Given the description of an element on the screen output the (x, y) to click on. 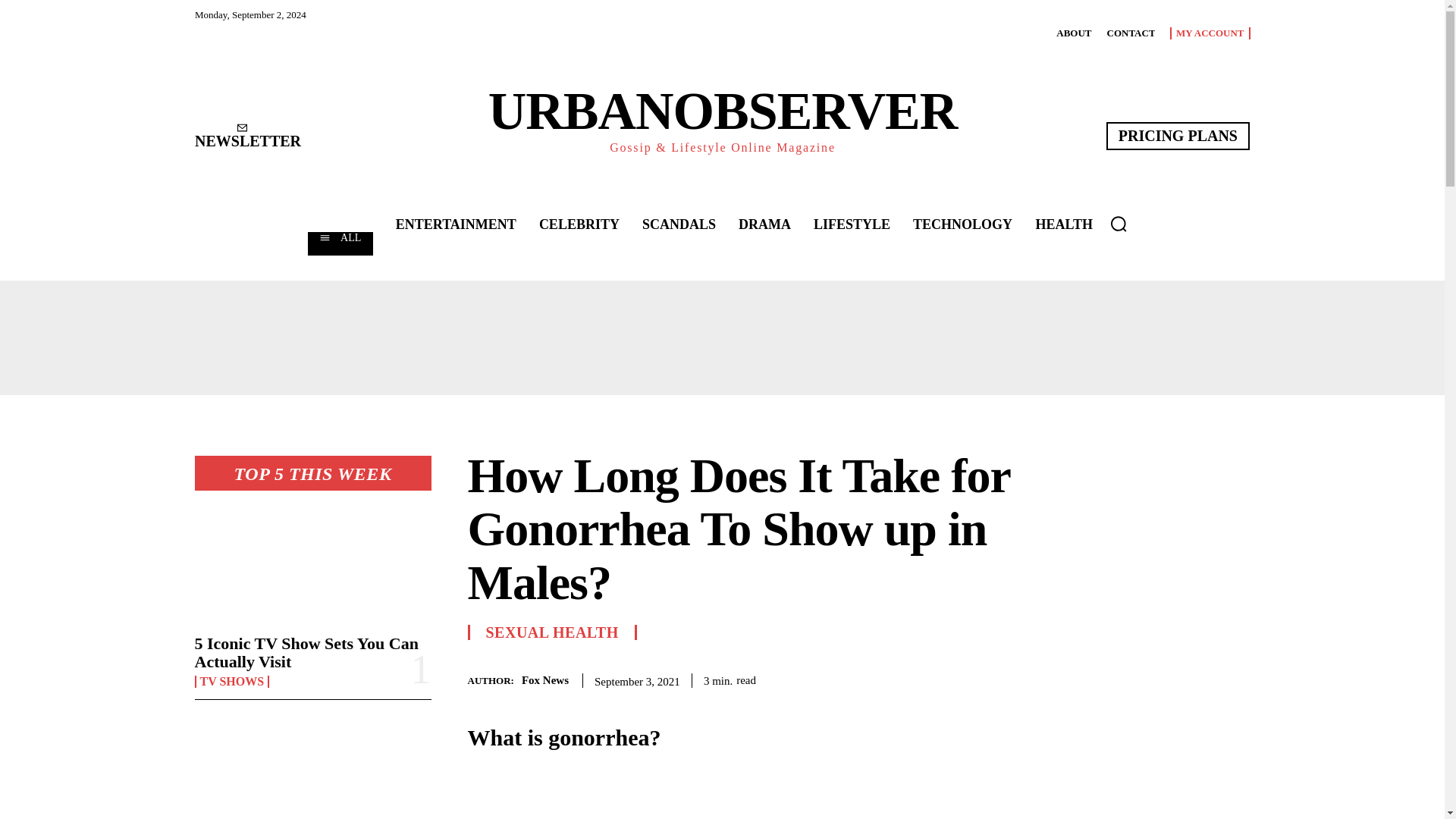
ABOUT (1073, 33)
NEWSLETTER (246, 135)
Newsletter (246, 135)
CONTACT (1130, 33)
All (339, 243)
Pricing Plans (1177, 135)
